Given the description of an element on the screen output the (x, y) to click on. 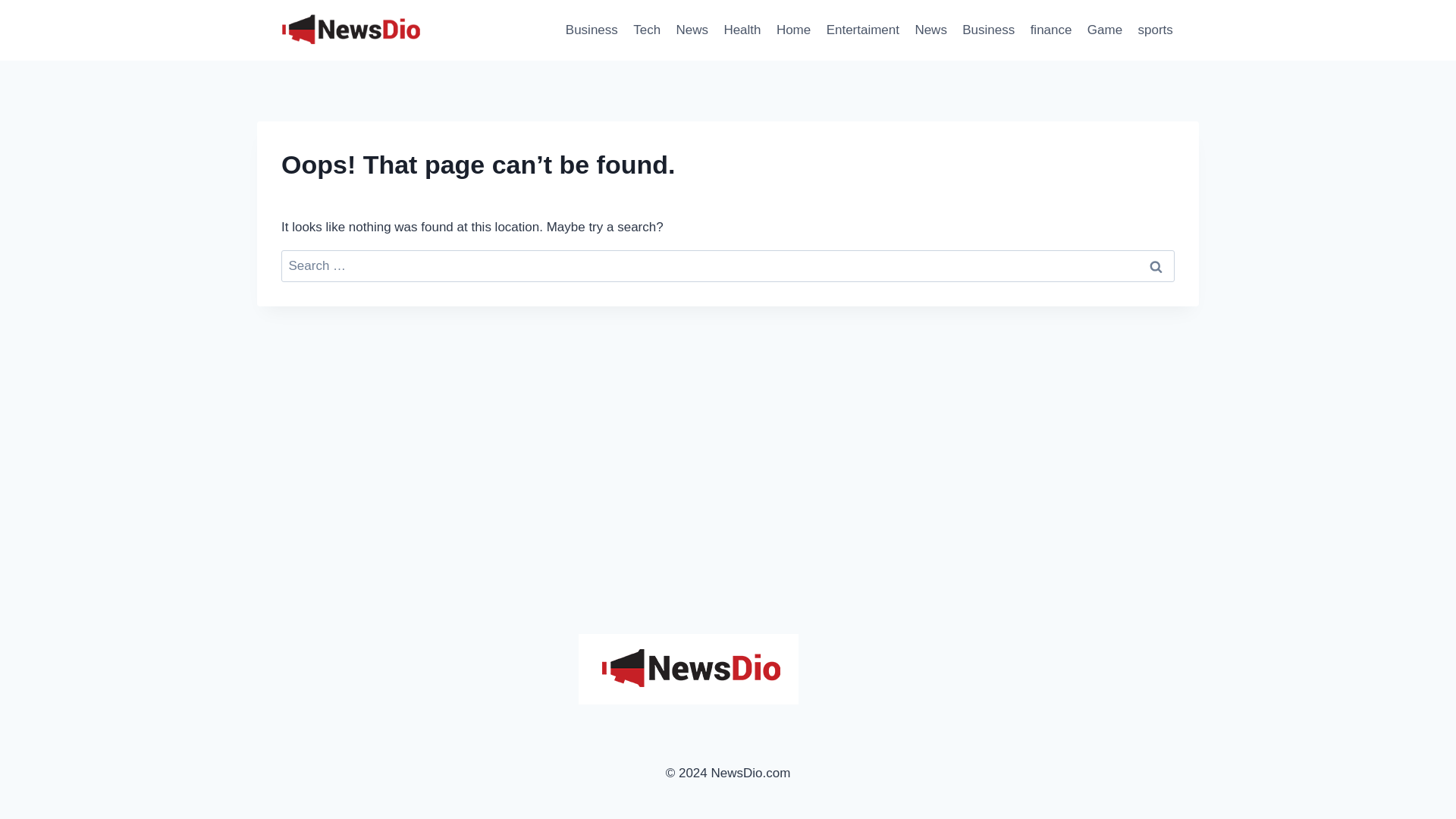
Search (1155, 266)
News (692, 30)
Business (988, 30)
Entertaiment (862, 30)
Home (793, 30)
finance (1050, 30)
Search (1155, 266)
Game (1105, 30)
Health (742, 30)
News (931, 30)
sports (1154, 30)
Business (591, 30)
Tech (647, 30)
Search (1155, 266)
